Given the description of an element on the screen output the (x, y) to click on. 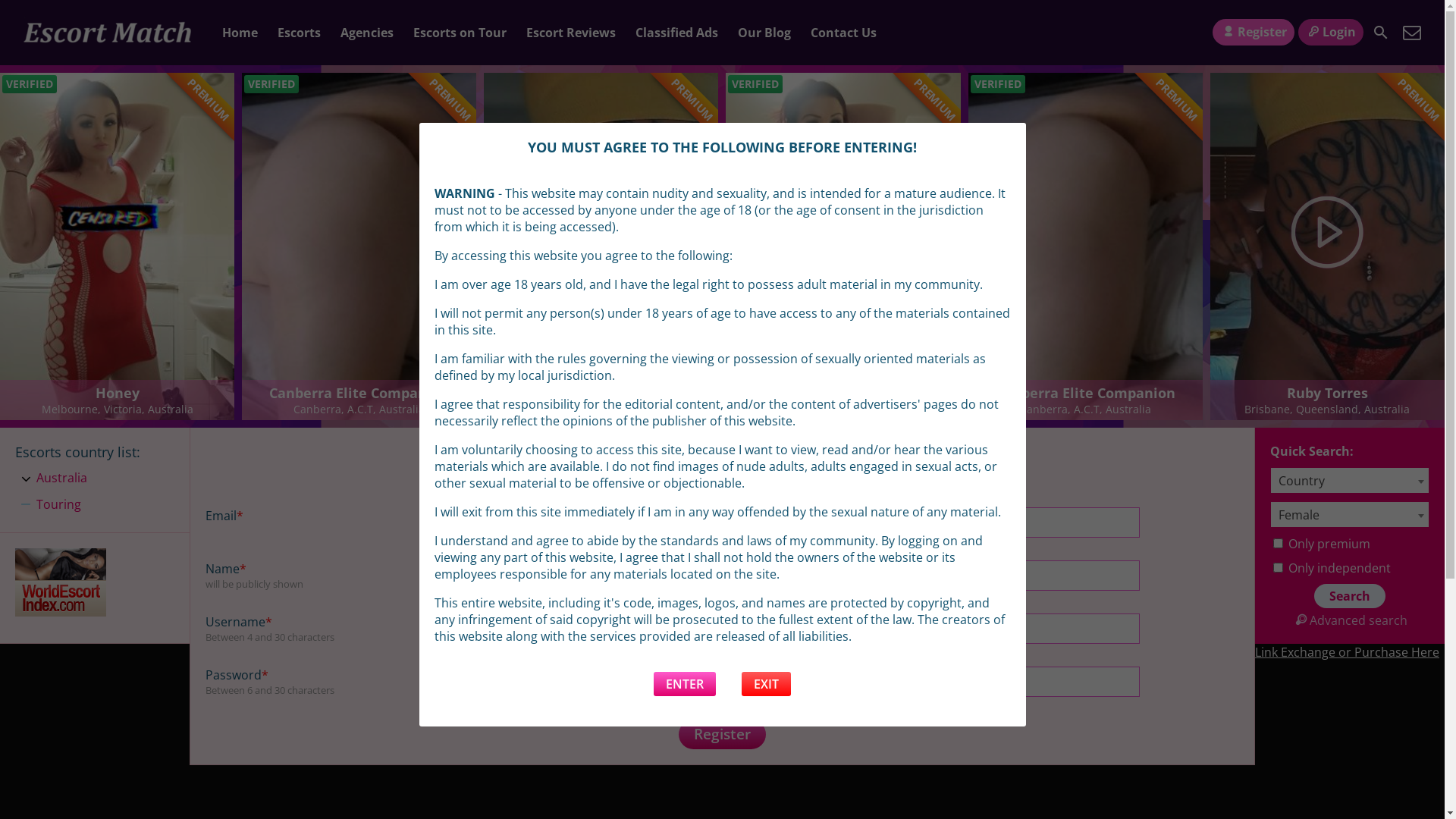
Advanced search Element type: text (1349, 619)
Register Element type: text (721, 733)
Touring Element type: text (58, 504)
Our Blog Element type: text (764, 32)
Login Element type: text (1330, 31)
Agencies Element type: text (366, 32)
Escorts Element type: text (298, 32)
worldescortindex.com Element type: hover (60, 611)
PREMIUM
VERIFIED
Honey
Melbourne, Victoria, Australia Element type: text (117, 246)
Australia Element type: text (61, 478)
Classified Ads Element type: text (676, 32)
PREMIUM
Ruby Torres
Brisbane, Queensland, Australia Element type: text (1327, 246)
Escorts on Tour Element type: text (459, 32)
PREMIUM
Ruby Torres
Brisbane, Queensland, Australia Element type: text (600, 246)
Search Element type: hover (1380, 32)
Register Element type: text (1252, 31)
Home Element type: text (239, 32)
Search Element type: text (1349, 595)
Contact Us Element type: text (843, 32)
Link Exchange or Purchase Here Element type: text (1347, 651)
Contact Us Element type: hover (1411, 32)
Escort Reviews Element type: text (570, 32)
PREMIUM
VERIFIED
Honey
Melbourne, Victoria, Australia Element type: text (842, 246)
